Given the description of an element on the screen output the (x, y) to click on. 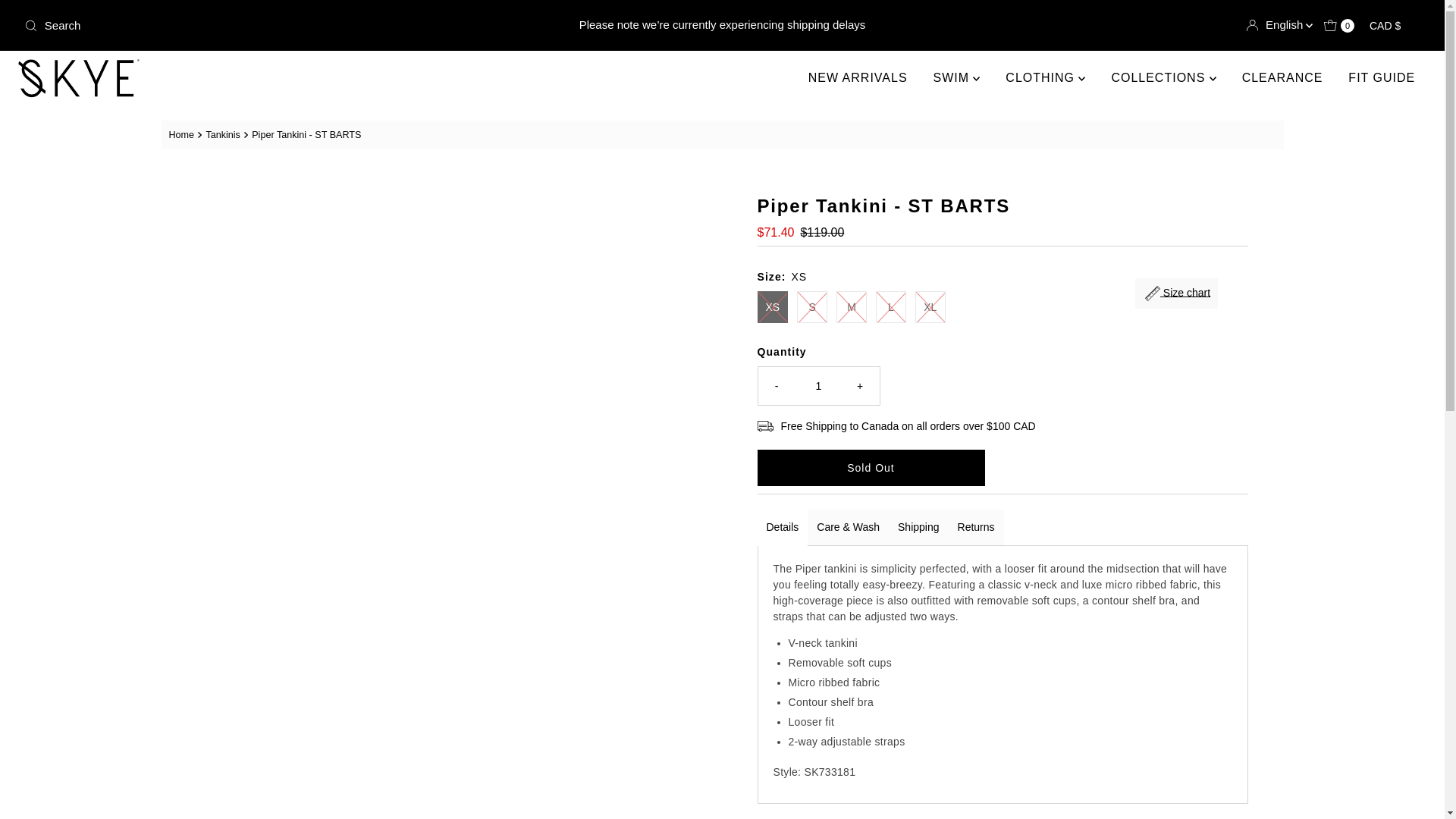
1 (818, 385)
Sold Out (870, 467)
Search our store (248, 25)
Tankinis (224, 134)
Back to the frontpage (183, 134)
